Given the description of an element on the screen output the (x, y) to click on. 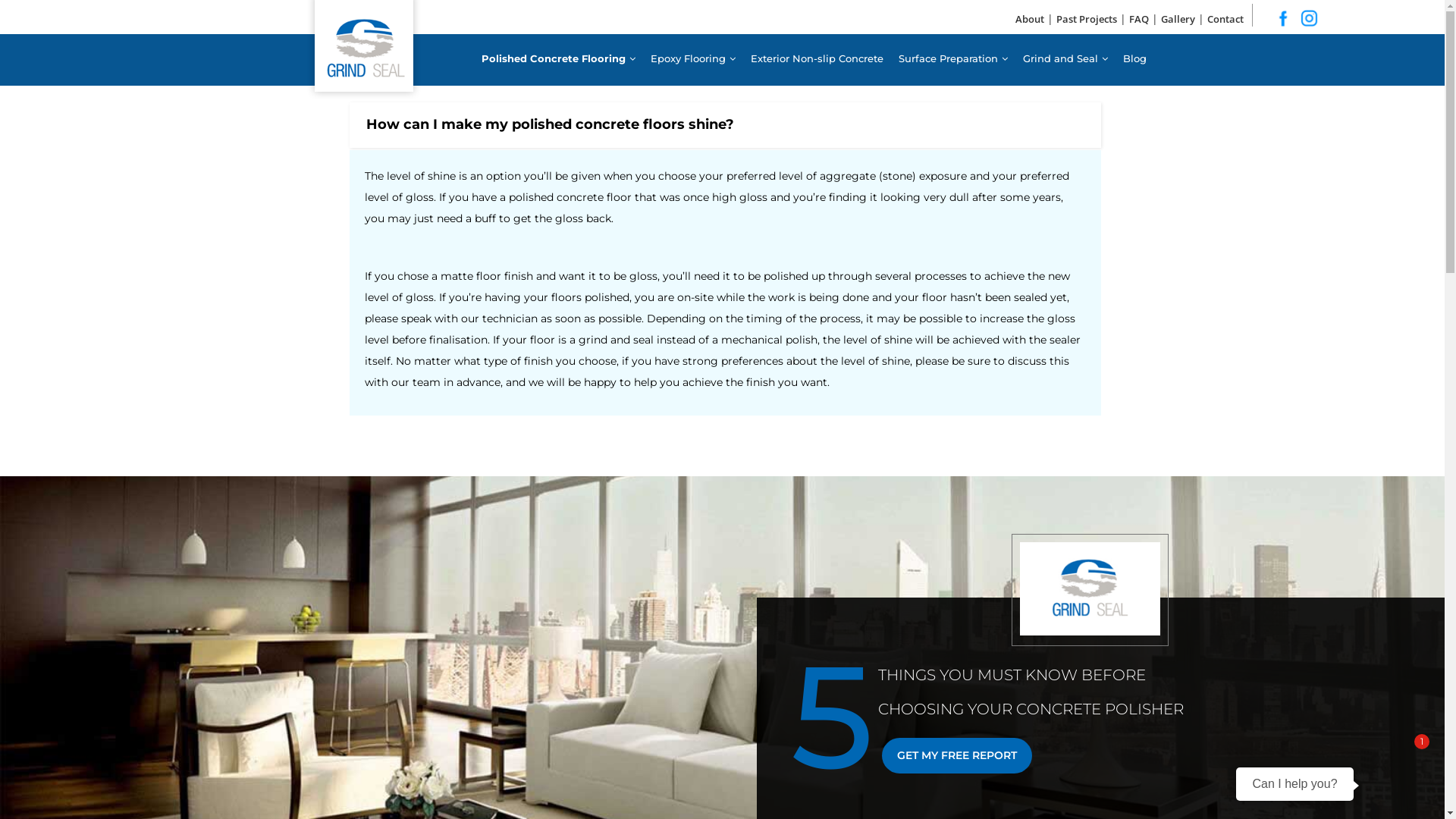
About Element type: text (1029, 18)
Surface Preparation Element type: text (952, 59)
Epoxy Flooring Element type: text (692, 59)
Exterior Non-slip Concrete Element type: text (816, 58)
Past Projects Element type: text (1086, 18)
FAQ Element type: text (1138, 18)
Can I help you?
1 Element type: text (1316, 771)
Blog Element type: text (1134, 58)
Polished Concrete Flooring Element type: text (558, 59)
Grind and Seal Element type: text (96, 29)
Contact Element type: text (1225, 18)
Grind and Seal Element type: text (1065, 59)
GET MY FREE REPORT Element type: text (956, 755)
Gallery Element type: text (1178, 18)
